Given the description of an element on the screen output the (x, y) to click on. 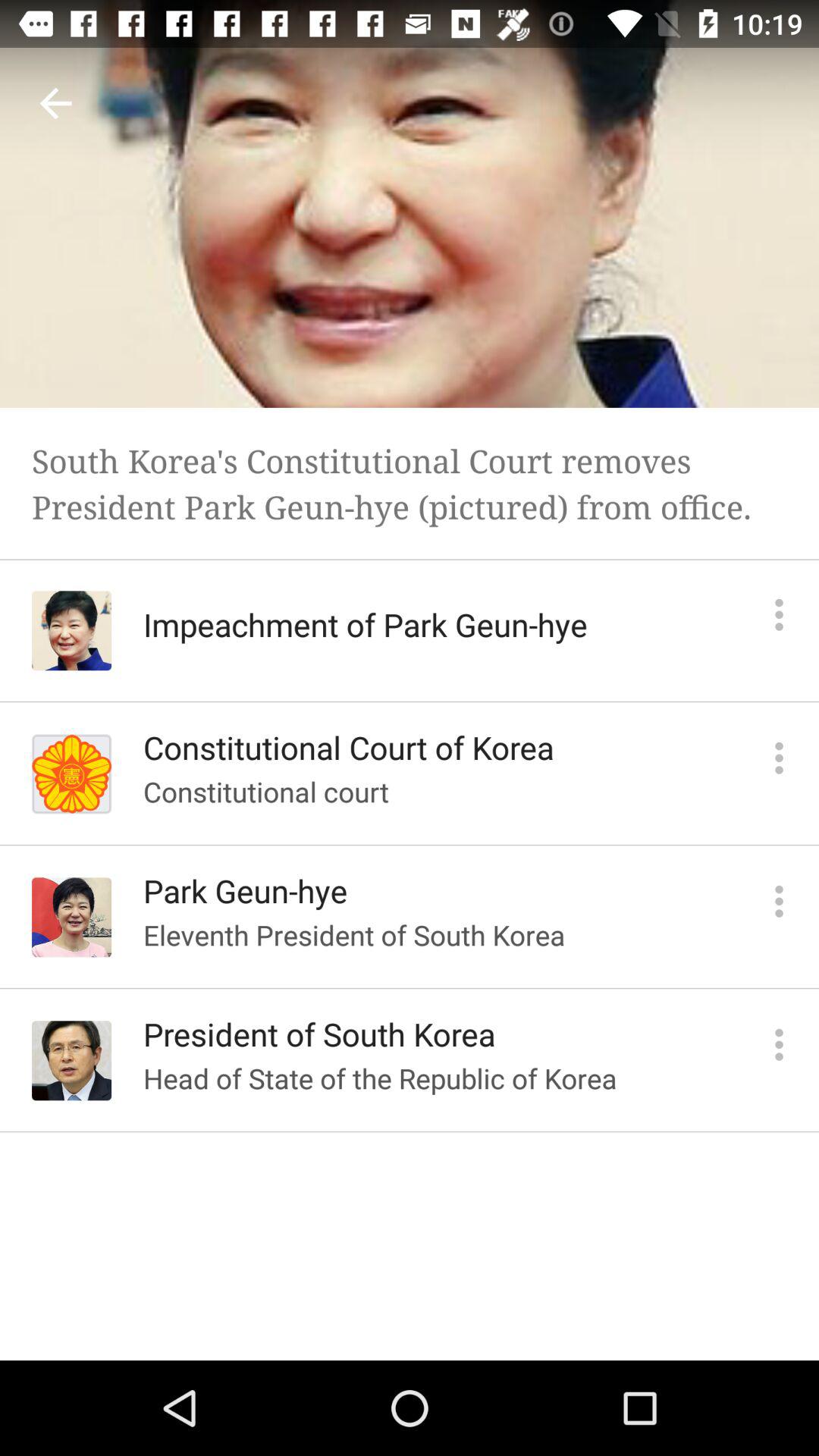
launch the icon above the south korea s icon (55, 103)
